Given the description of an element on the screen output the (x, y) to click on. 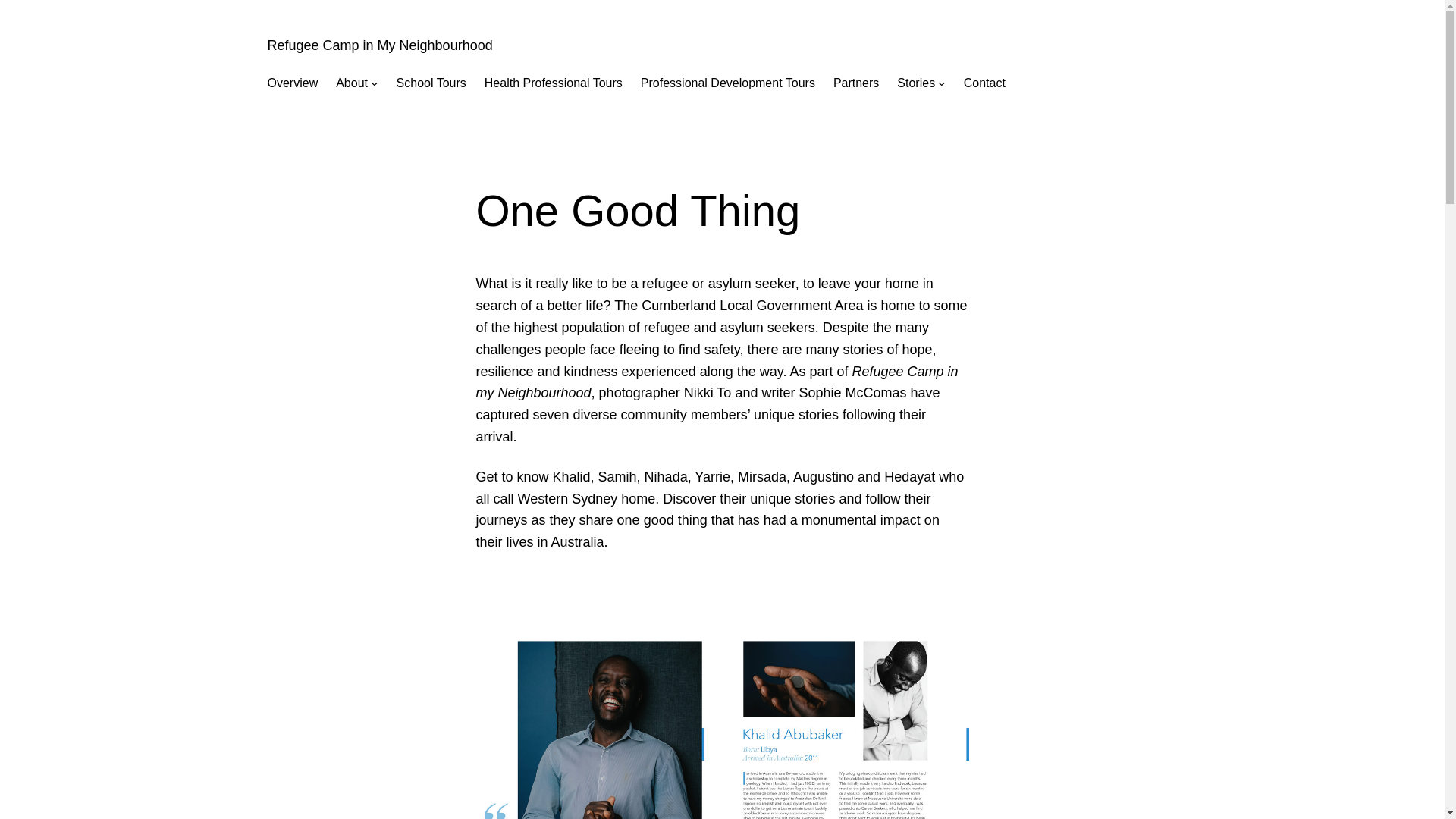
Overview (291, 83)
Contact (984, 83)
School Tours (430, 83)
About (352, 83)
Partners (855, 83)
Professional Development Tours (727, 83)
Health Professional Tours (553, 83)
Refugee Camp in My Neighbourhood (379, 45)
Stories (915, 83)
